Given the description of an element on the screen output the (x, y) to click on. 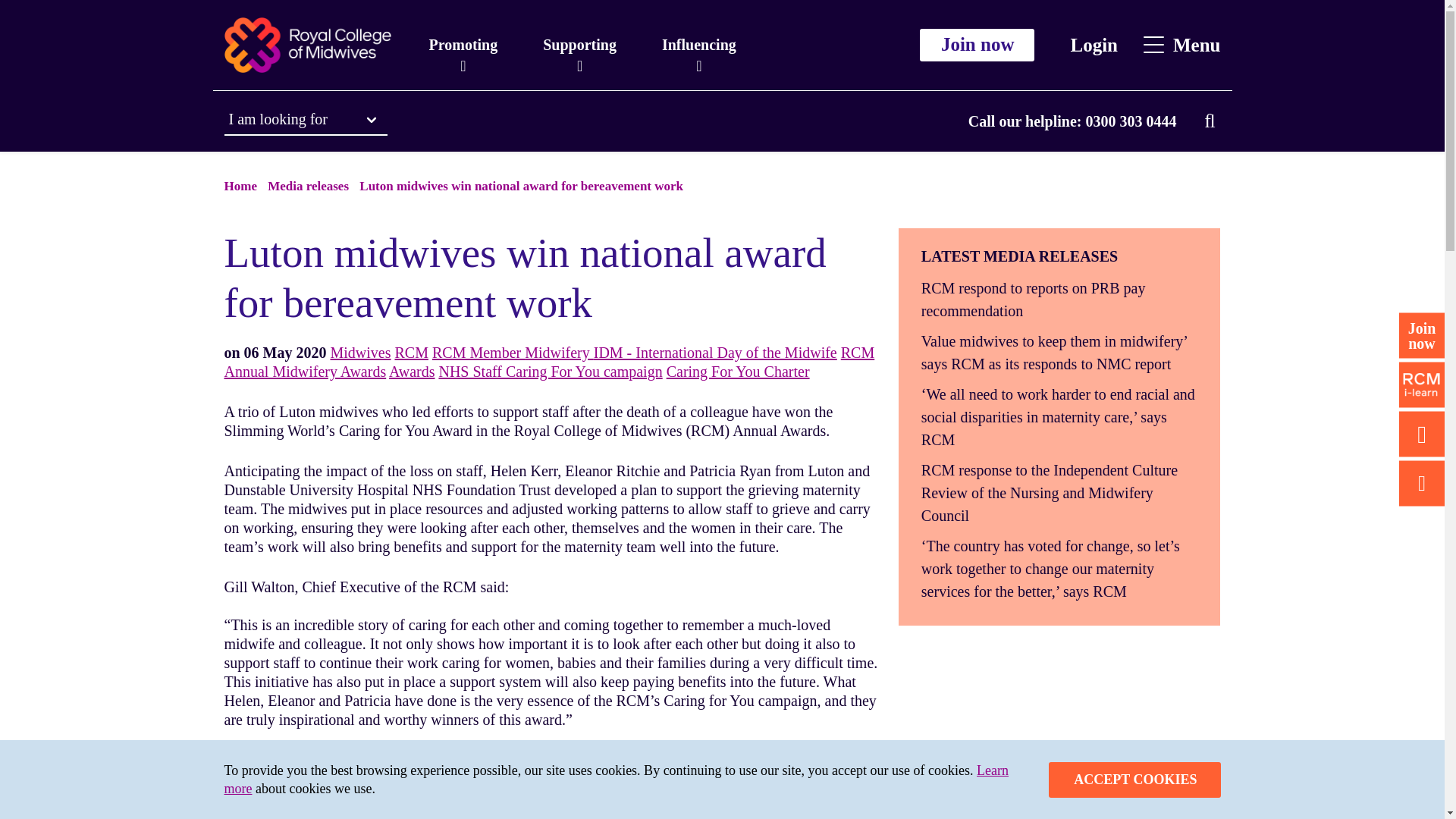
Promoting (463, 45)
Supporting (579, 45)
Influencing (698, 45)
Privacy Policy (616, 779)
Promoting (463, 45)
Supporting (579, 45)
